Given the description of an element on the screen output the (x, y) to click on. 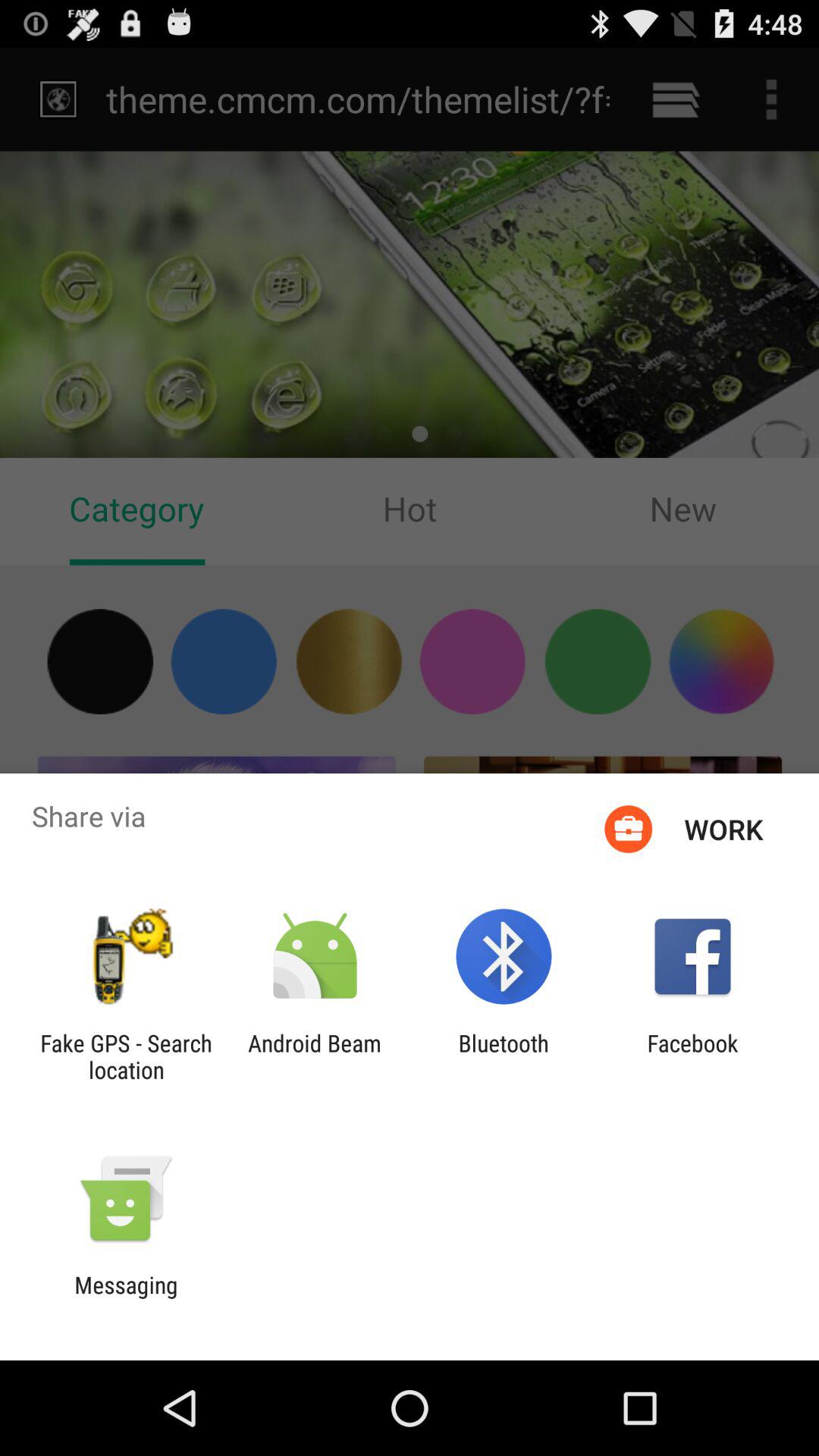
turn on icon at the bottom right corner (692, 1056)
